Given the description of an element on the screen output the (x, y) to click on. 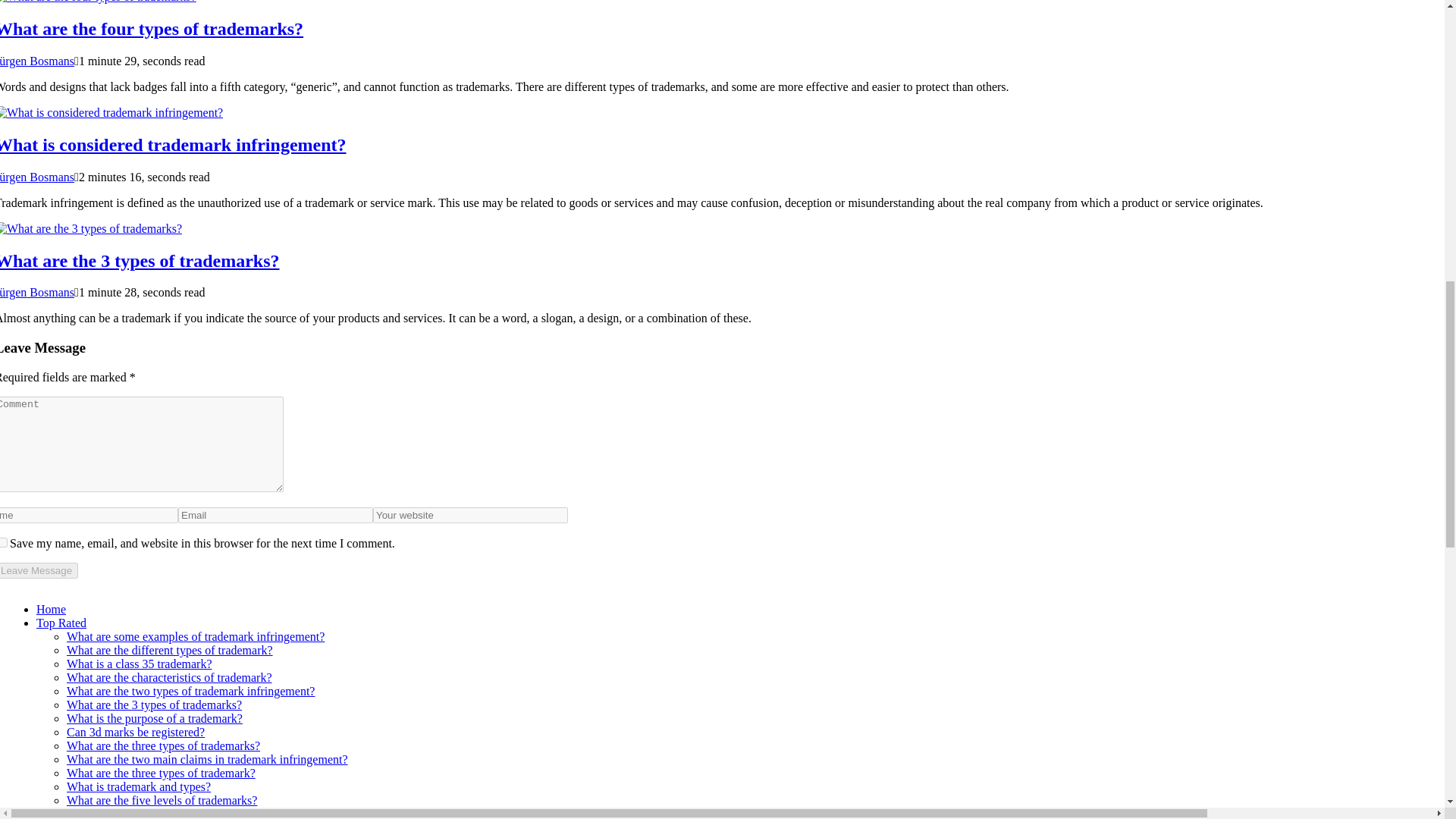
What is the purpose of a trademark? (154, 717)
What is considered trademark infringement? (173, 144)
Home (50, 608)
Leave Message (39, 570)
What are the characteristics of trademark? (169, 676)
Leave Message (39, 570)
What are some examples of trademark infringement? (195, 635)
Can 3d marks be registered? (135, 731)
What are the 3 types of trademarks? (139, 260)
What are the different types of trademark? (169, 649)
